Given the description of an element on the screen output the (x, y) to click on. 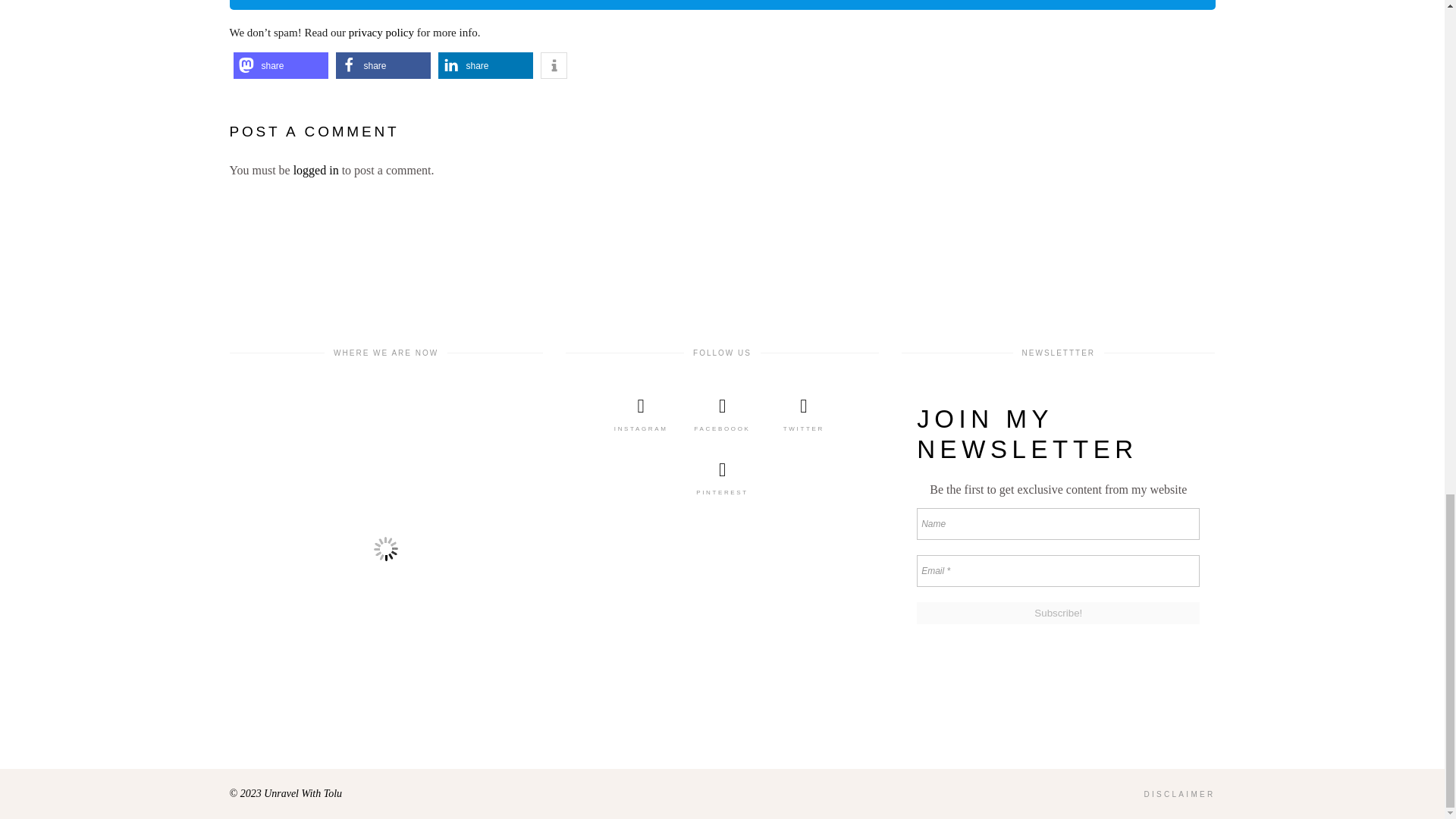
Email (1058, 570)
More information (553, 65)
Share on Mastodon (280, 65)
Subscribe! (1058, 612)
Share on LinkedIn (485, 65)
Name (1058, 522)
Share on Facebook (381, 65)
